Given the description of an element on the screen output the (x, y) to click on. 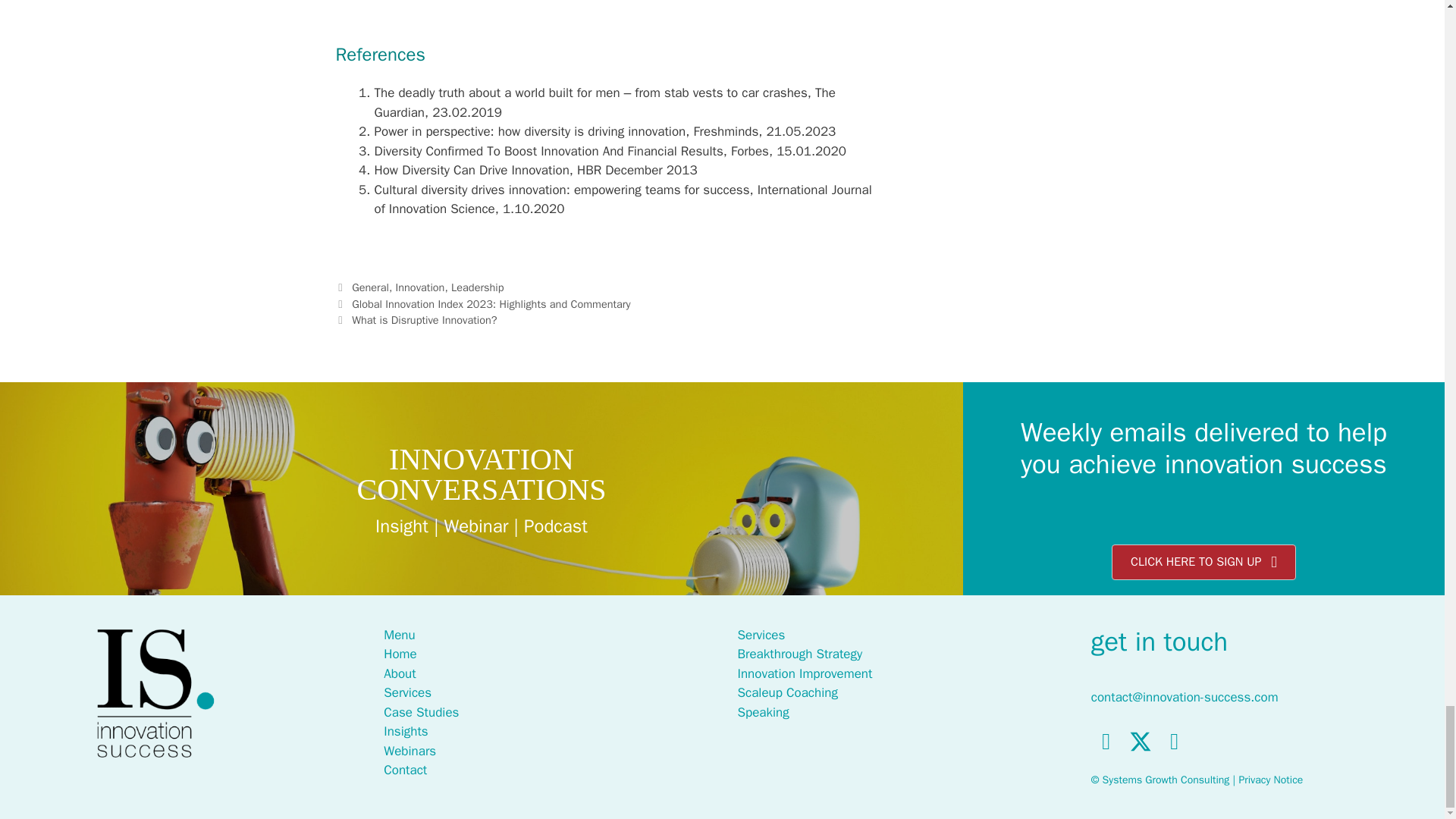
Facebook (1105, 741)
IS. Logo AW RGB250 (154, 692)
CLICK HERE TO SIGN UP (1203, 561)
Innovation (420, 287)
Leadership (477, 287)
What is Disruptive Innovation? (424, 319)
General (370, 287)
LinkedIn (1173, 741)
Global Innovation Index 2023: Highlights and Commentary (491, 304)
